Given the description of an element on the screen output the (x, y) to click on. 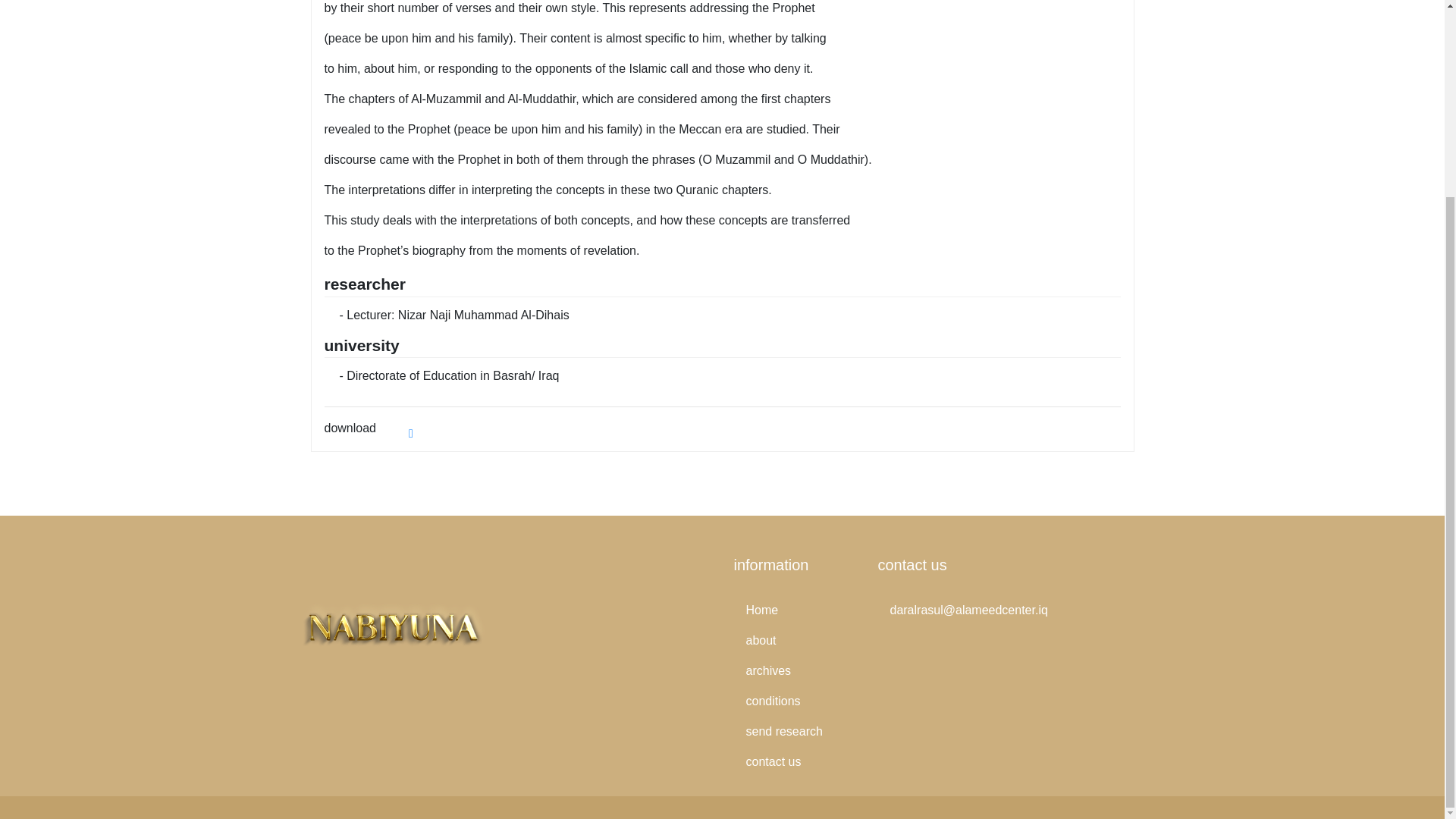
contact us (794, 761)
conditions (794, 701)
about (794, 640)
Home (794, 610)
archives (794, 671)
send research (794, 731)
